Given the description of an element on the screen output the (x, y) to click on. 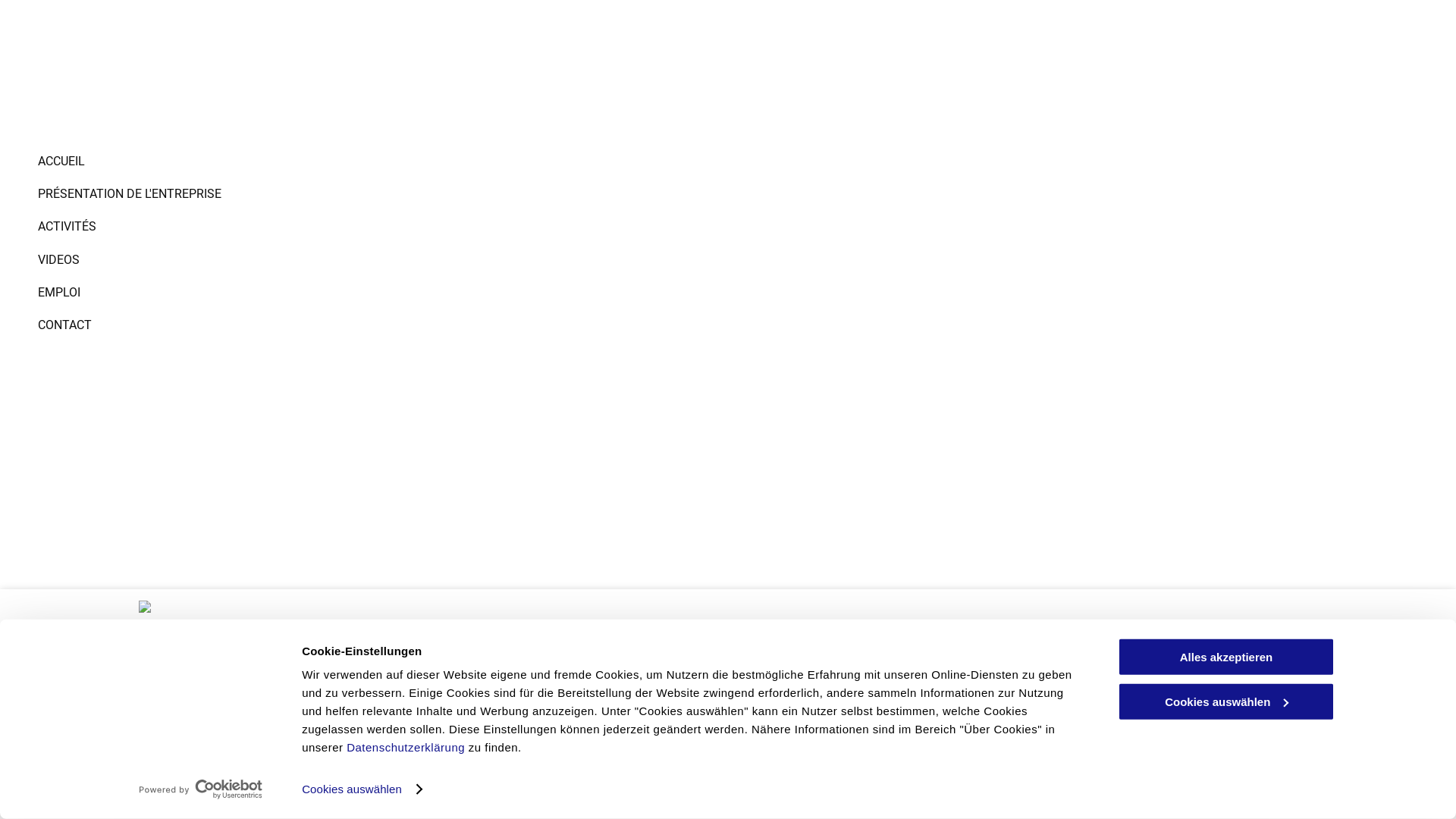
ACCUEIL Element type: text (372, 160)
CONTACT Element type: text (372, 324)
Alles akzeptieren Element type: text (1225, 656)
EMPLOI Element type: text (372, 292)
VIDEOS Element type: text (372, 259)
